Given the description of an element on the screen output the (x, y) to click on. 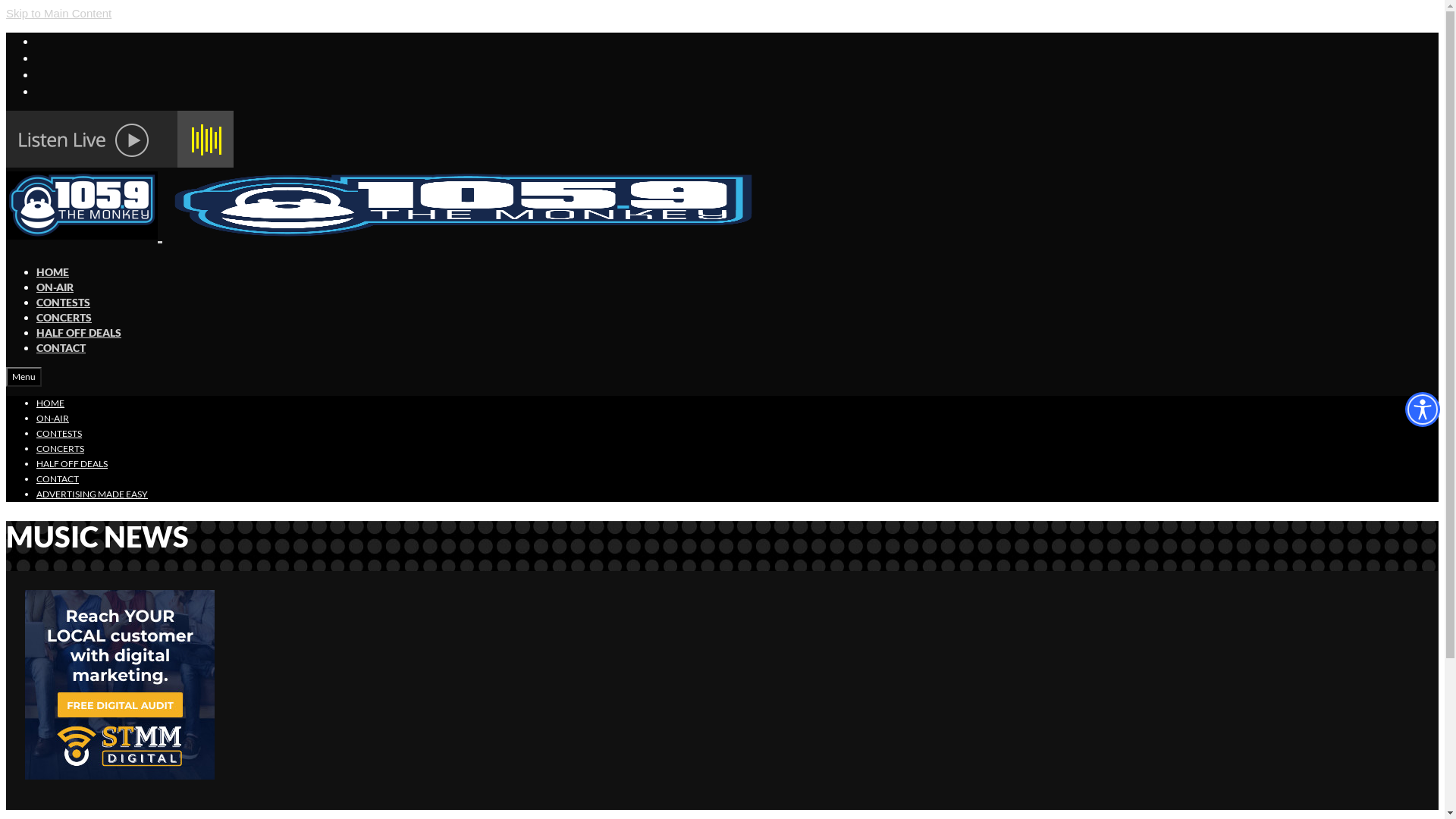
CONTESTS Element type: text (58, 433)
CONCERTS Element type: text (60, 448)
CONTACT Element type: text (60, 347)
Menu Element type: text (23, 376)
HALF OFF DEALS Element type: text (71, 463)
ADVERTISING MADE EASY Element type: text (91, 493)
HALF OFF DEALS Element type: text (78, 332)
CONCERTS Element type: text (63, 316)
HOME Element type: text (50, 402)
CONTESTS Element type: text (63, 301)
HOME Element type: text (52, 271)
White flower Element type: hover (119, 138)
ON-AIR Element type: text (52, 417)
ON-AIR Element type: text (54, 286)
CONTACT Element type: text (57, 478)
Skip to Main Content Element type: text (58, 12)
